Given the description of an element on the screen output the (x, y) to click on. 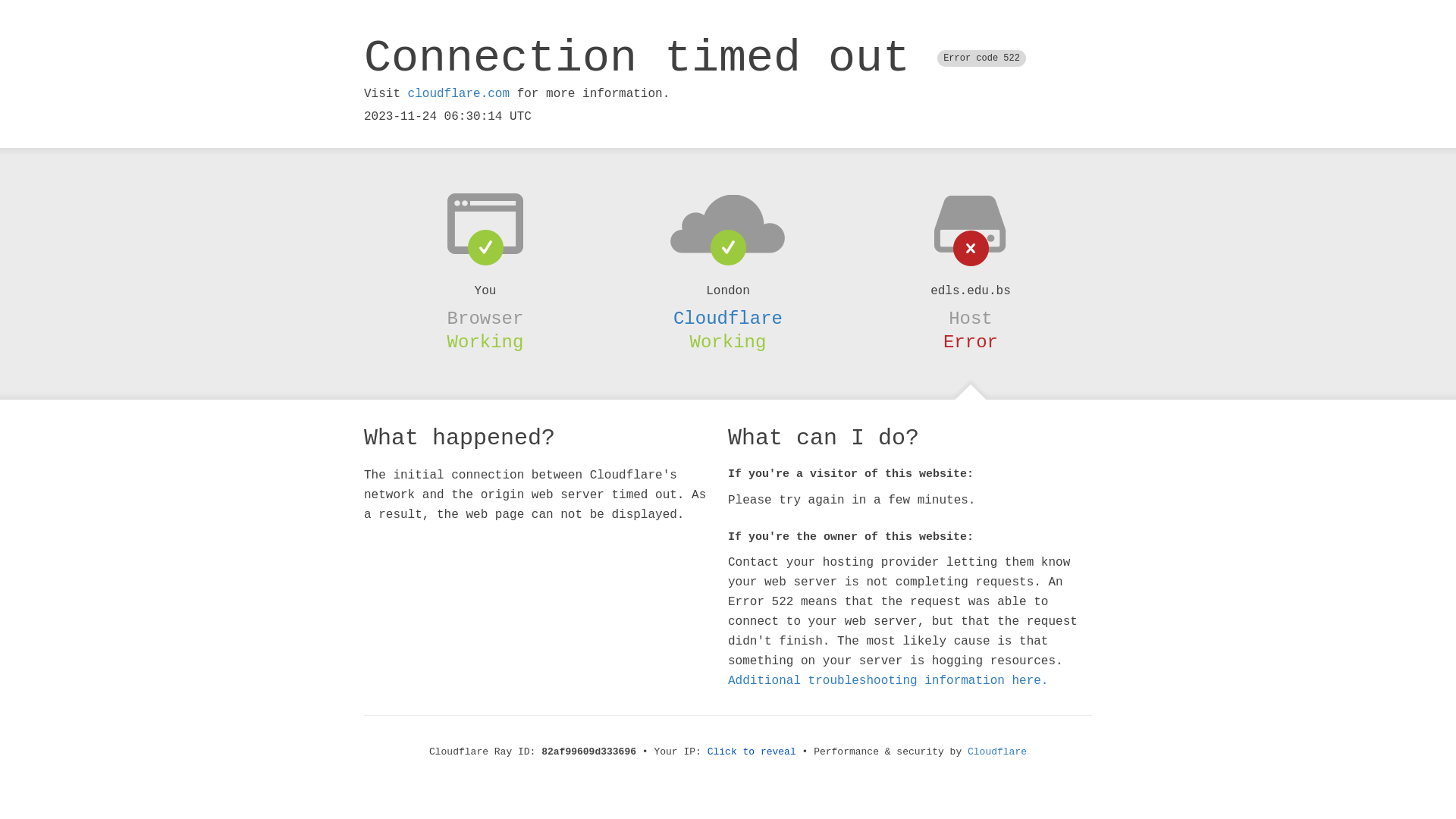
cloudflare.com Element type: text (458, 93)
Cloudflare Element type: text (996, 751)
Cloudflare Element type: text (727, 318)
Click to reveal Element type: text (751, 751)
Additional troubleshooting information here. Element type: text (888, 680)
